Given the description of an element on the screen output the (x, y) to click on. 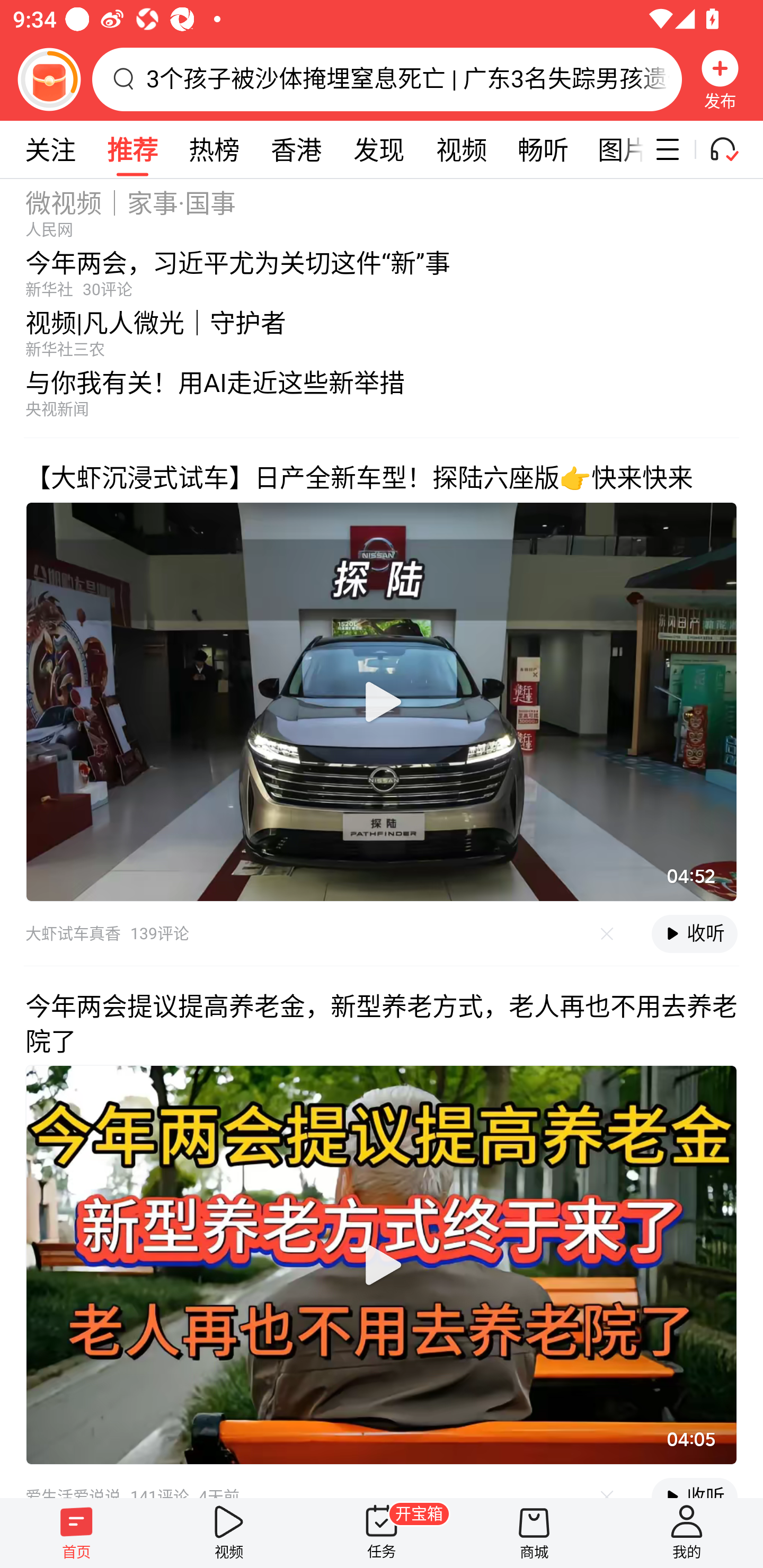
阅读赚金币 (48, 79)
发布 发布，按钮 (720, 78)
关注 (50, 149)
推荐 (132, 149)
热榜 (213, 149)
香港 (295, 149)
发现 (378, 149)
视频 (461, 149)
畅听 (542, 149)
图片 (613, 149)
听一听开关 (732, 149)
微视频｜家事·国事人民网 视频 微视频｜家事·国事 人民网 (381, 208)
视频|凡人微光｜守护者新华社三农 文章 视频|凡人微光｜守护者 新华社三农 (381, 329)
与你我有关！用AI走近这些新举措央视新闻 文章 与你我有关！用AI走近这些新举措 央视新闻 (381, 398)
播放视频 视频播放器，双击屏幕打开播放控制 (381, 701)
播放视频 (381, 701)
收听 (694, 933)
播放视频 视频播放器，双击屏幕打开播放控制 (381, 1264)
播放视频 (381, 1264)
首页 (76, 1532)
视频 (228, 1532)
任务 开宝箱 (381, 1532)
商城 (533, 1532)
我的 (686, 1532)
